Given the description of an element on the screen output the (x, y) to click on. 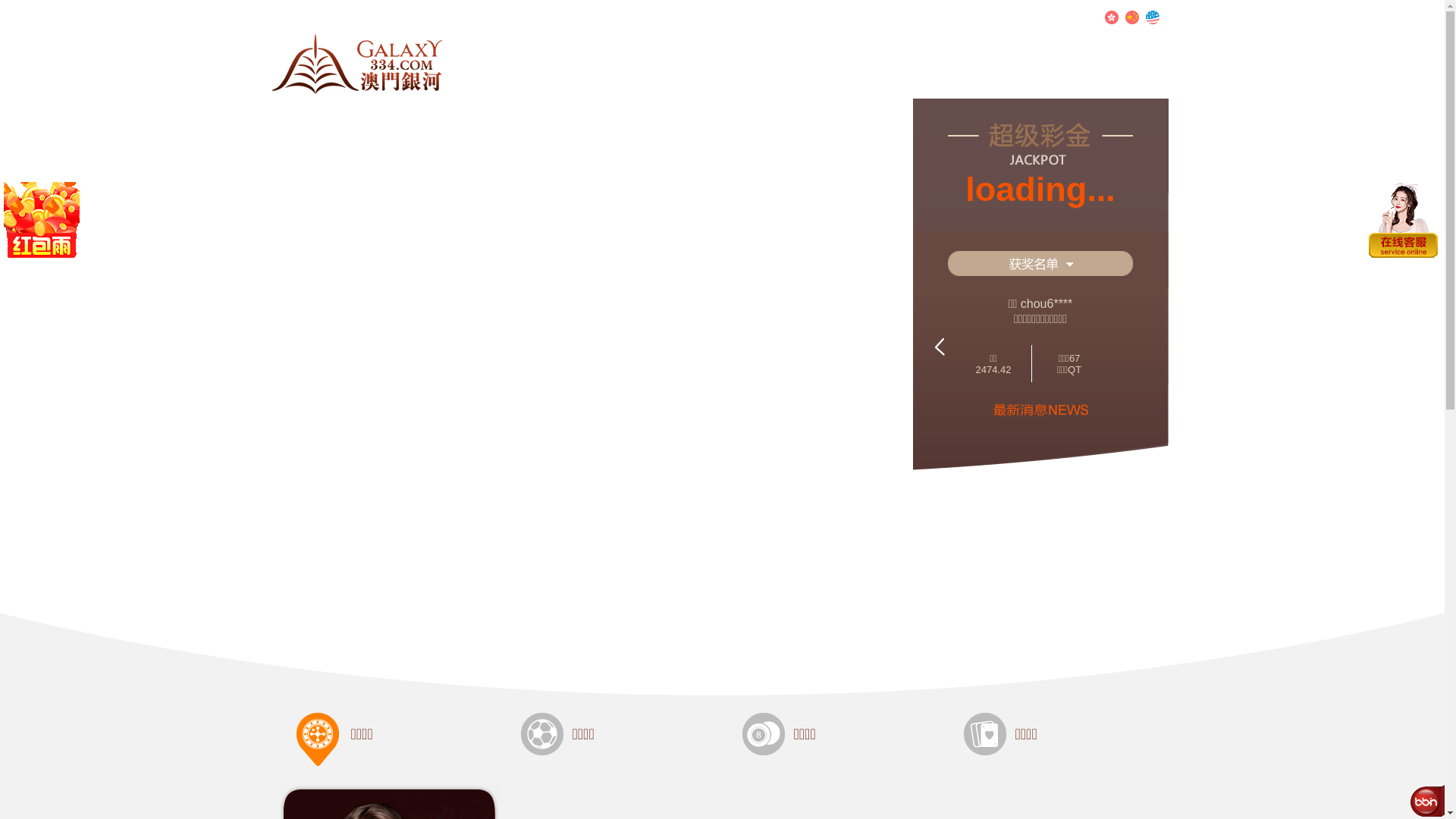
English Element type: hover (1151, 17)
